Given the description of an element on the screen output the (x, y) to click on. 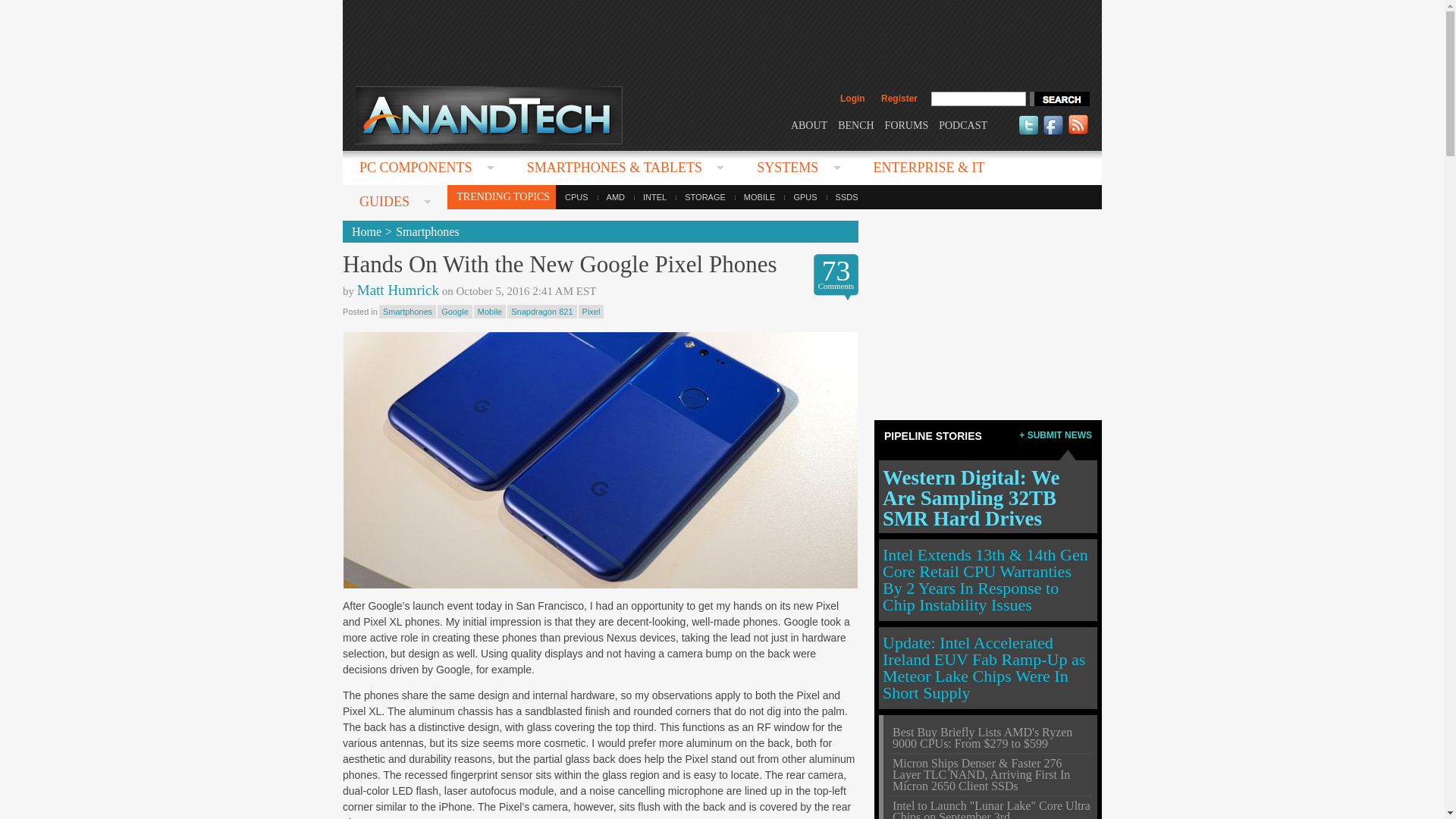
search (1059, 98)
PODCAST (963, 125)
search (1059, 98)
ABOUT (808, 125)
Login (852, 98)
search (1059, 98)
FORUMS (906, 125)
BENCH (855, 125)
Register (898, 98)
